Given the description of an element on the screen output the (x, y) to click on. 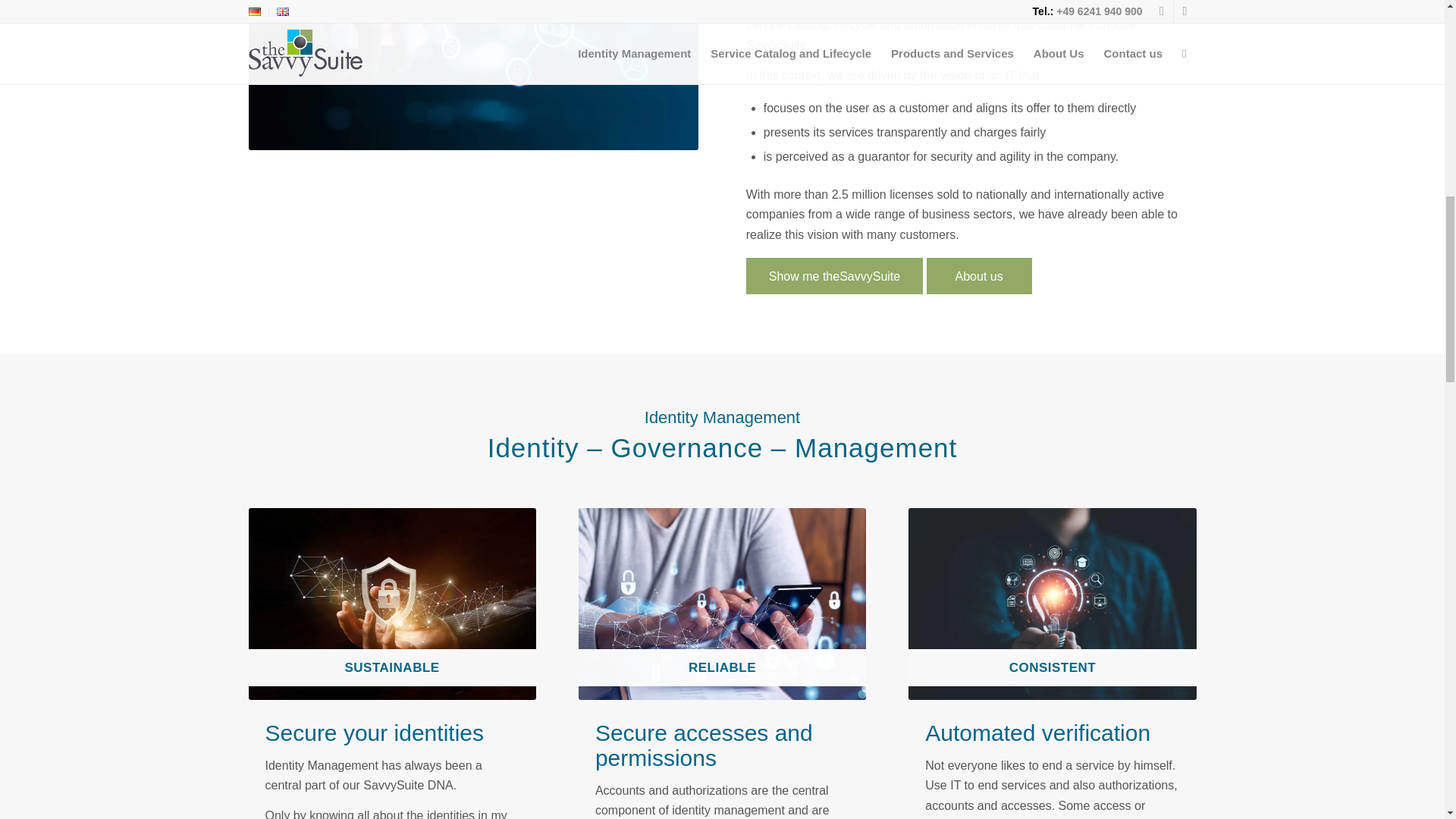
IDM-Nachhaltig (391, 603)
Show me theSavvySuite (834, 275)
IDM-Konsistent (1051, 603)
syscovery (473, 74)
About us (979, 275)
IDM-zuverlaessig (722, 603)
